Given the description of an element on the screen output the (x, y) to click on. 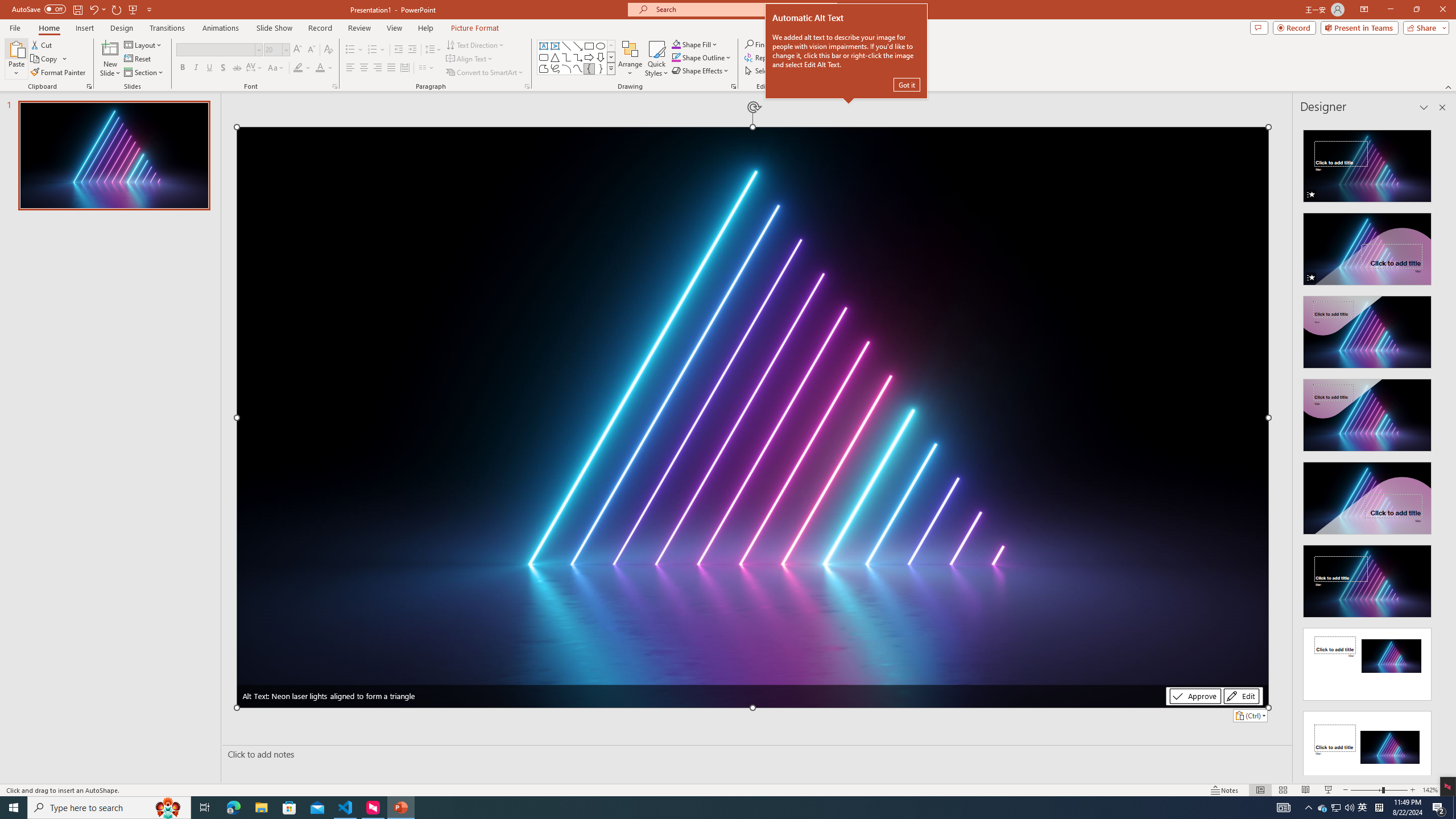
Class: NetUIScrollBar (1441, 447)
